Given the description of an element on the screen output the (x, y) to click on. 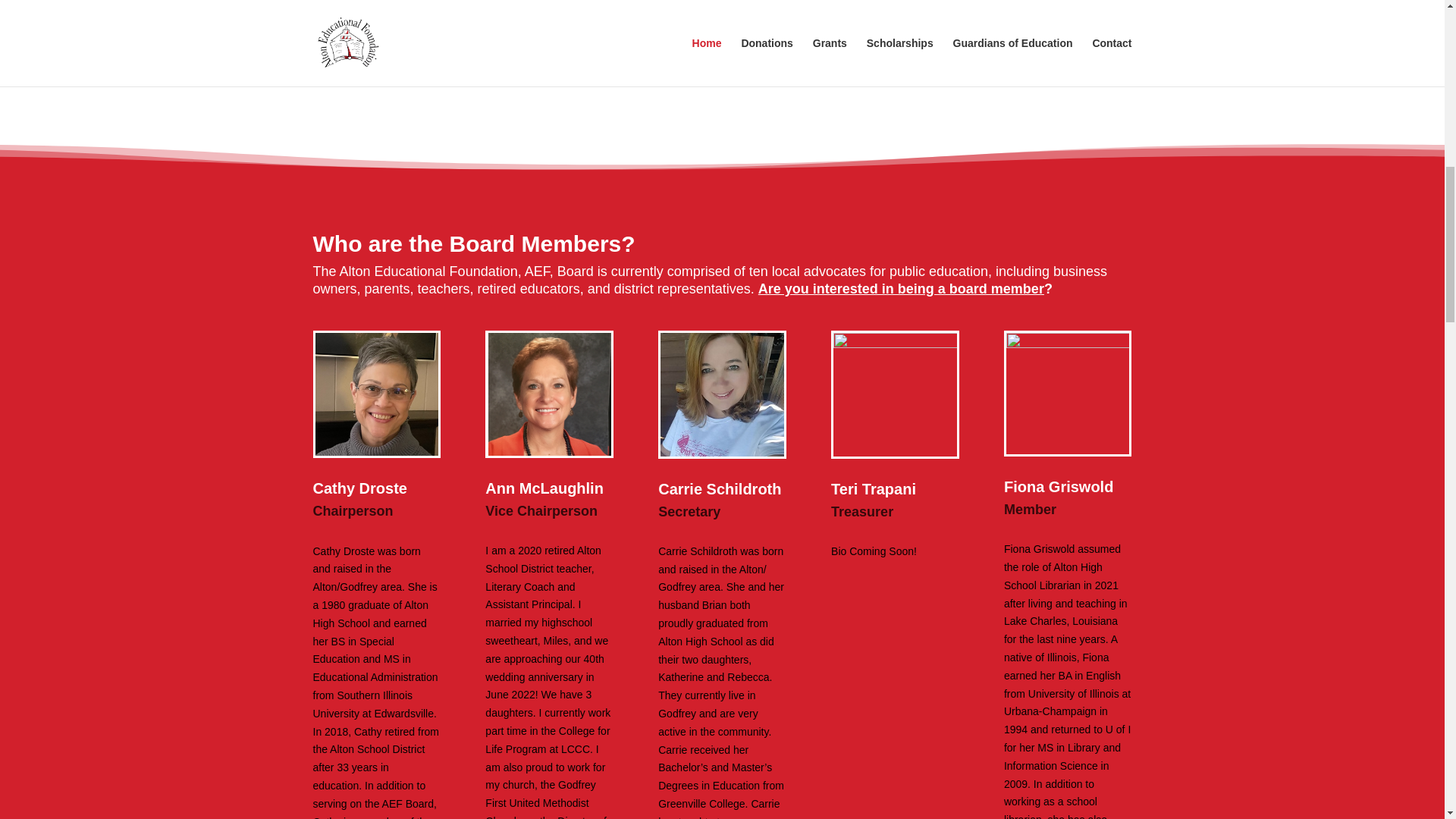
Donate (1021, 16)
Are you interested in being a board member (900, 288)
